Given the description of an element on the screen output the (x, y) to click on. 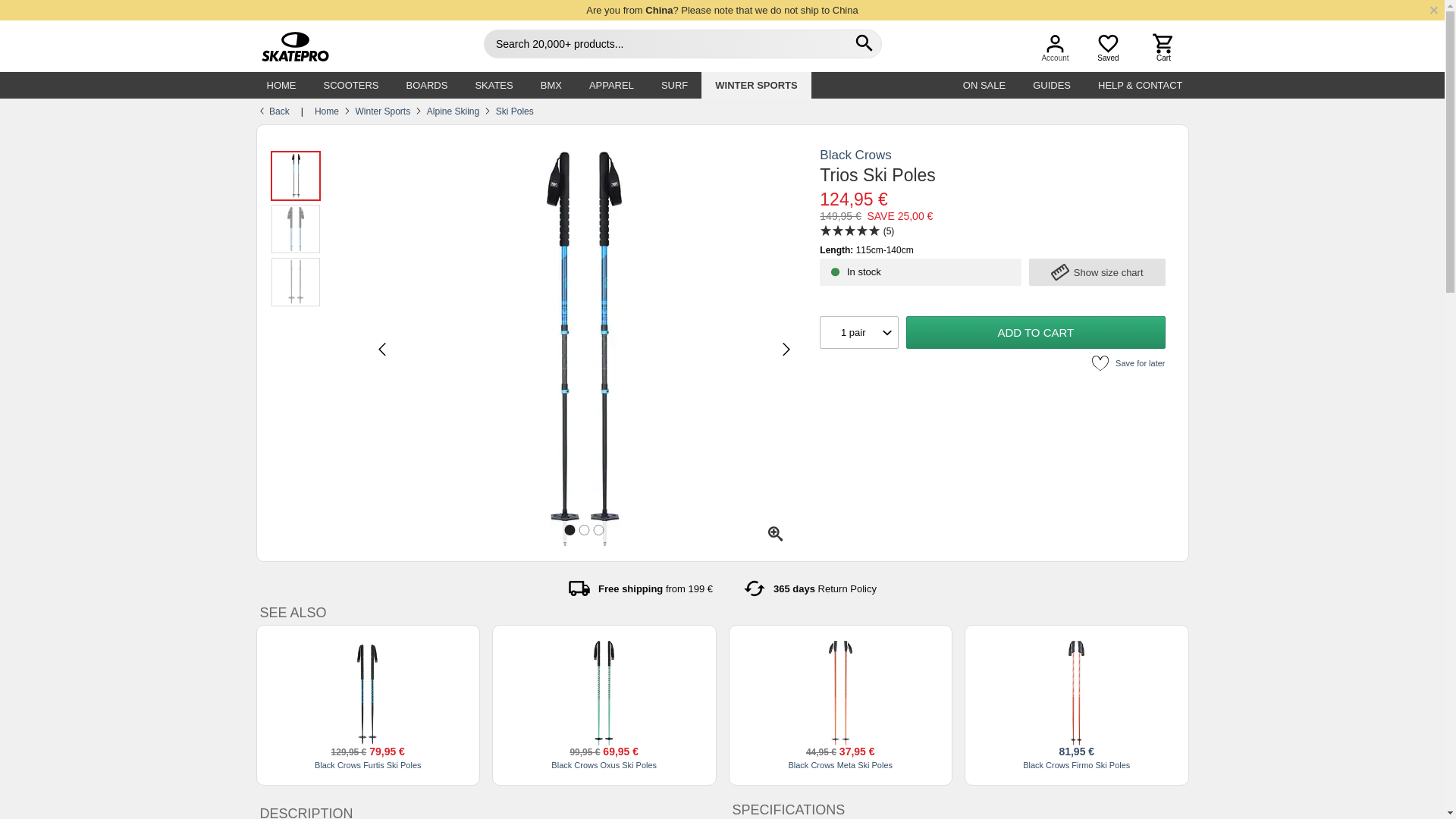
SkatePro (288, 46)
Skateboards, Longboards and Cruiser Skateboards (426, 85)
